Given the description of an element on the screen output the (x, y) to click on. 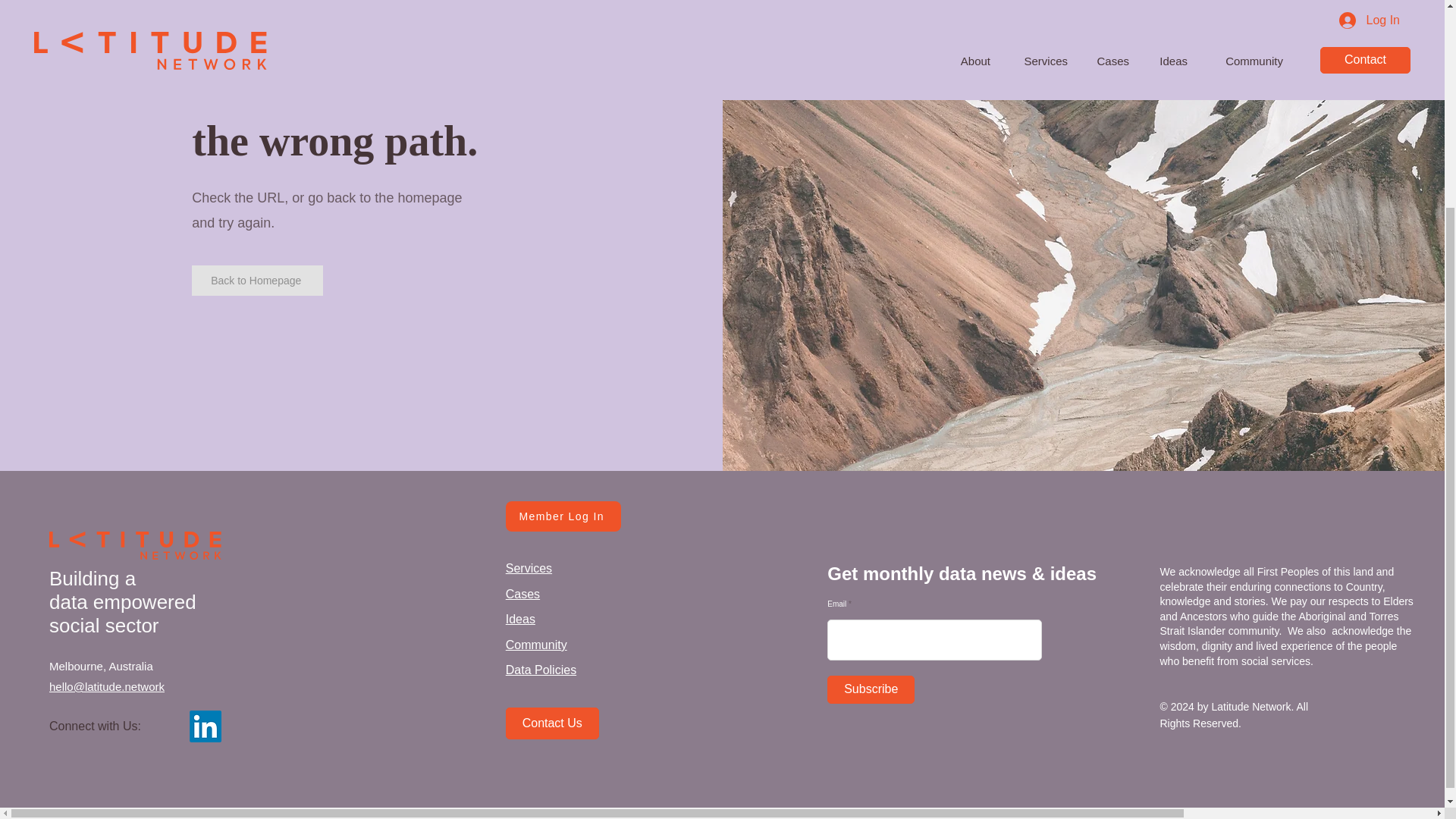
Contact Us (551, 723)
Community (536, 644)
Services (528, 567)
Ideas (520, 618)
Member Log In (563, 516)
Cases (522, 594)
Subscribe (870, 689)
Data Policies (540, 669)
Back to Homepage (257, 280)
data empowered social sector (122, 613)
